Given the description of an element on the screen output the (x, y) to click on. 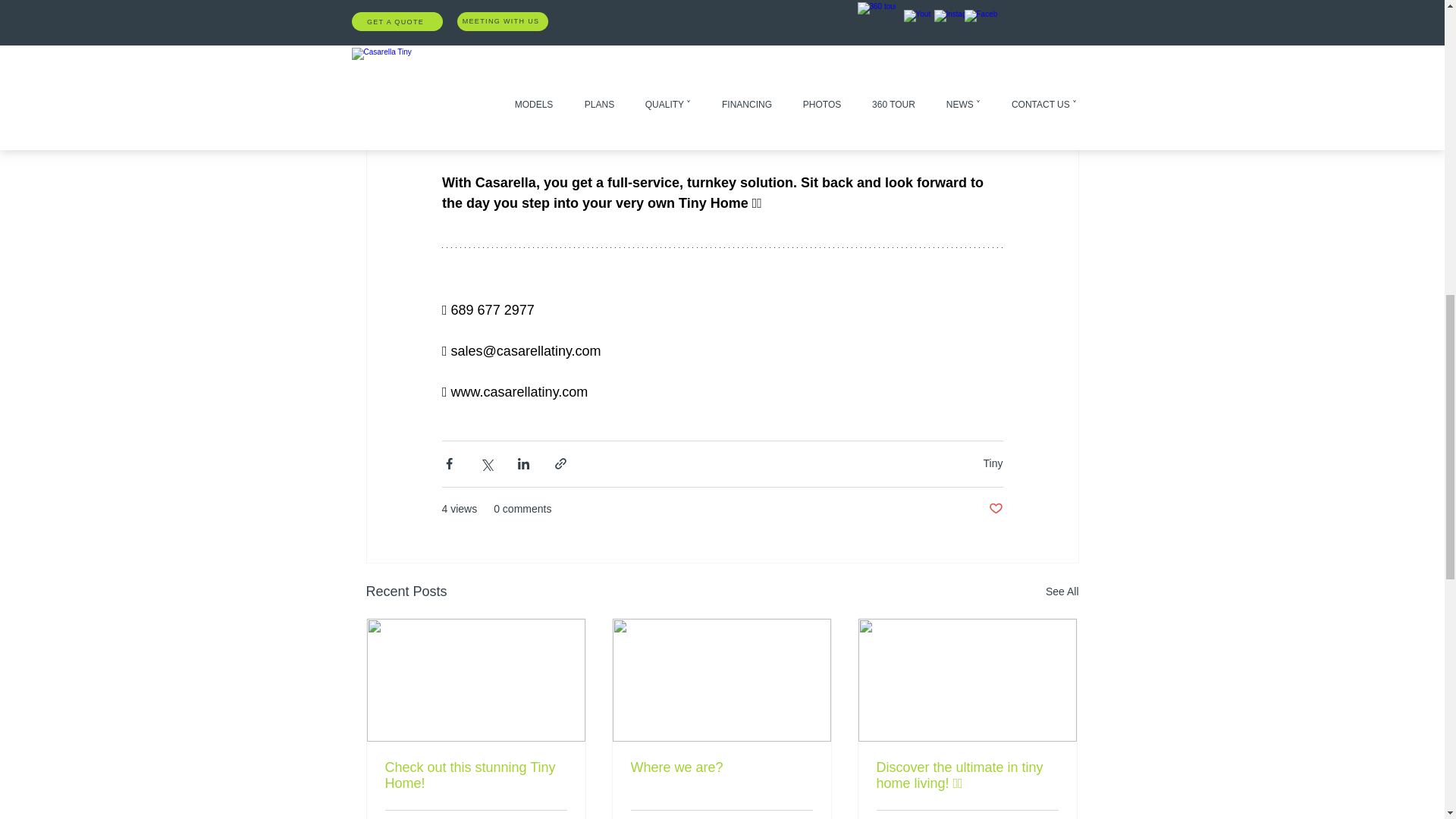
www.casarellatiny.com (518, 391)
Post not marked as liked (995, 508)
Tiny (993, 463)
